Given the description of an element on the screen output the (x, y) to click on. 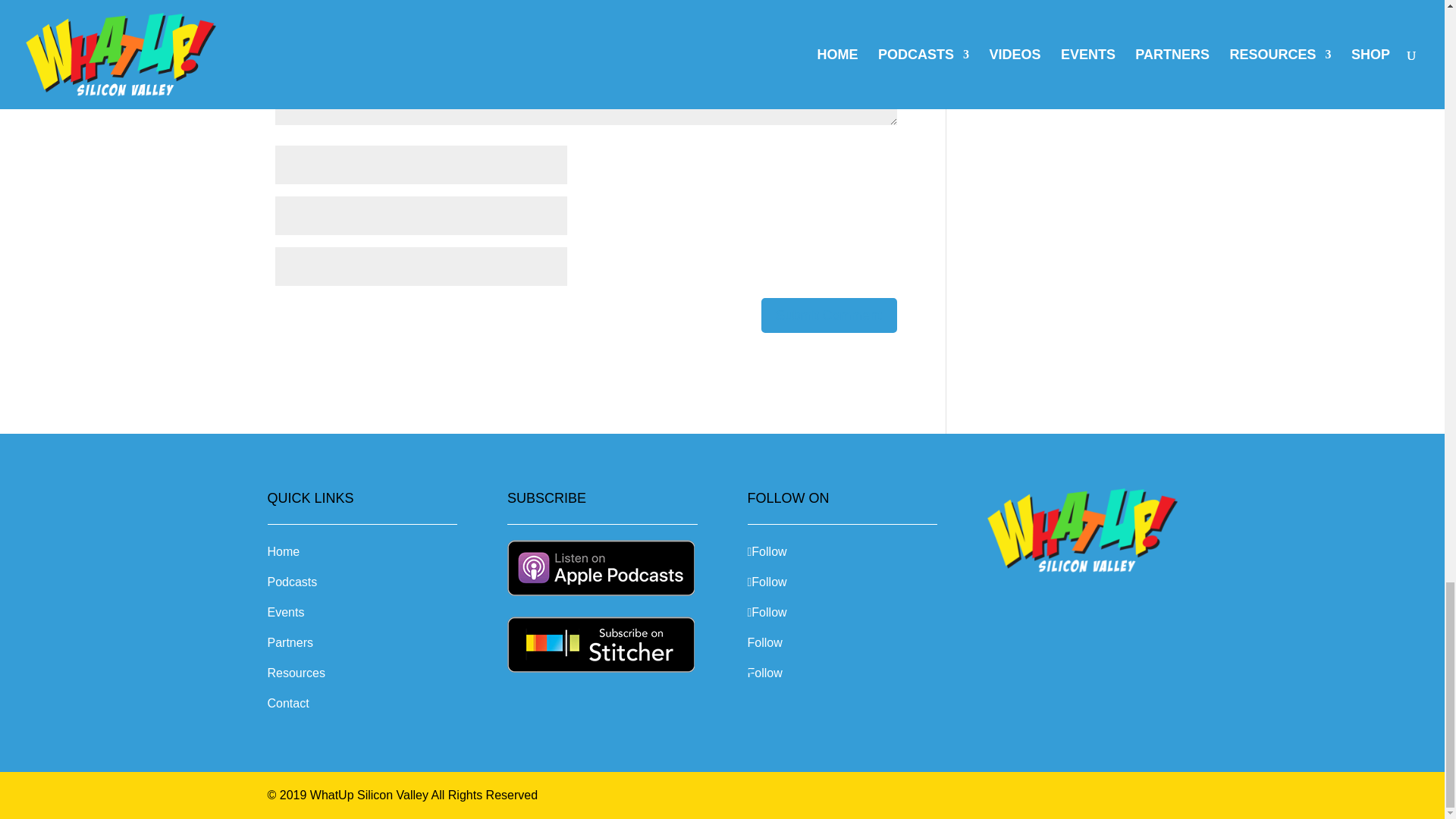
Follow on Twitter (767, 612)
Follow on Youtube (765, 642)
Follow on Facebook (767, 551)
Follow on Instagram (767, 581)
Submit Comment (828, 315)
